Given the description of an element on the screen output the (x, y) to click on. 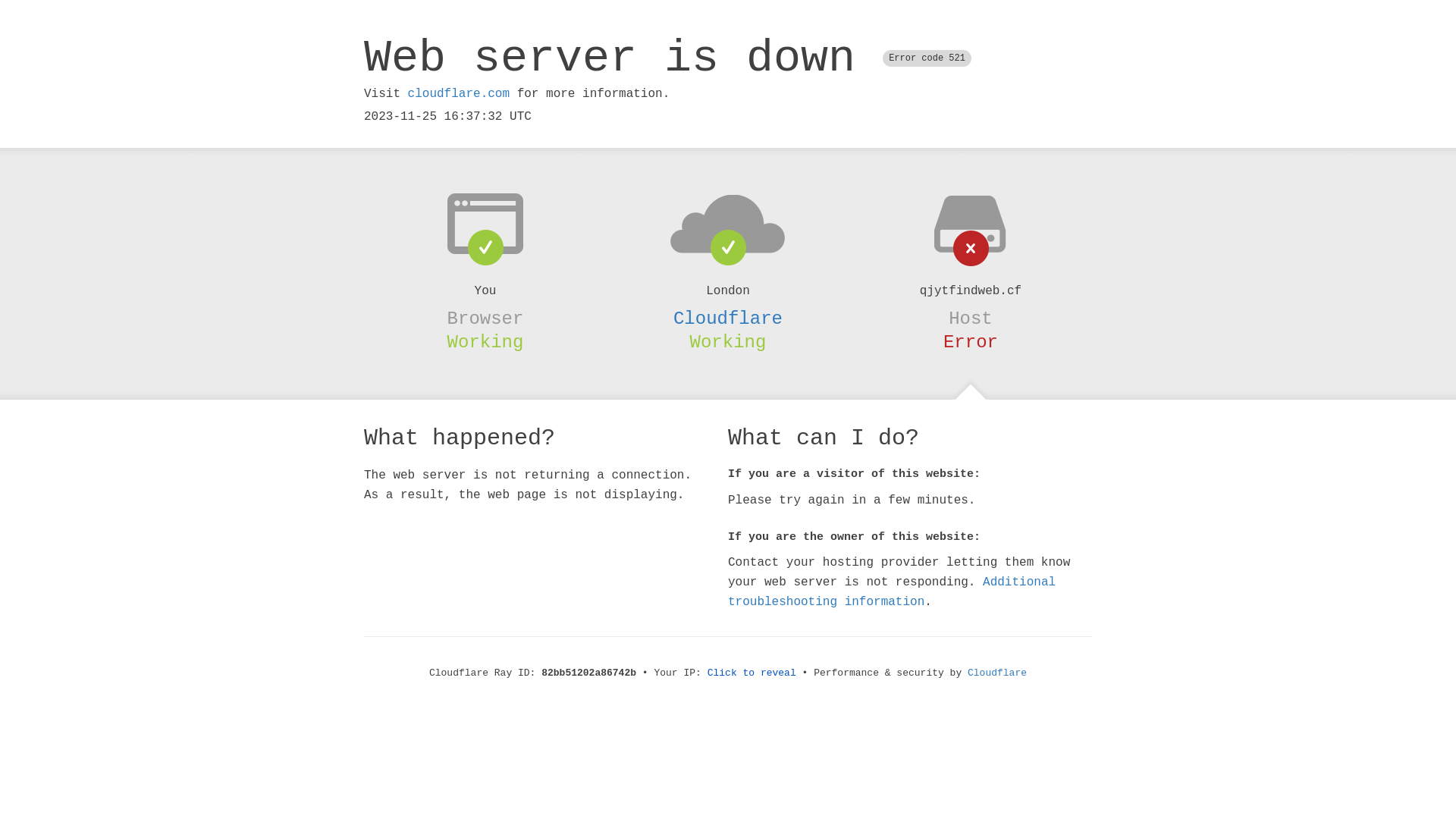
Cloudflare Element type: text (727, 318)
cloudflare.com Element type: text (458, 93)
Additional troubleshooting information Element type: text (891, 591)
Click to reveal Element type: text (751, 672)
Cloudflare Element type: text (996, 672)
